Given the description of an element on the screen output the (x, y) to click on. 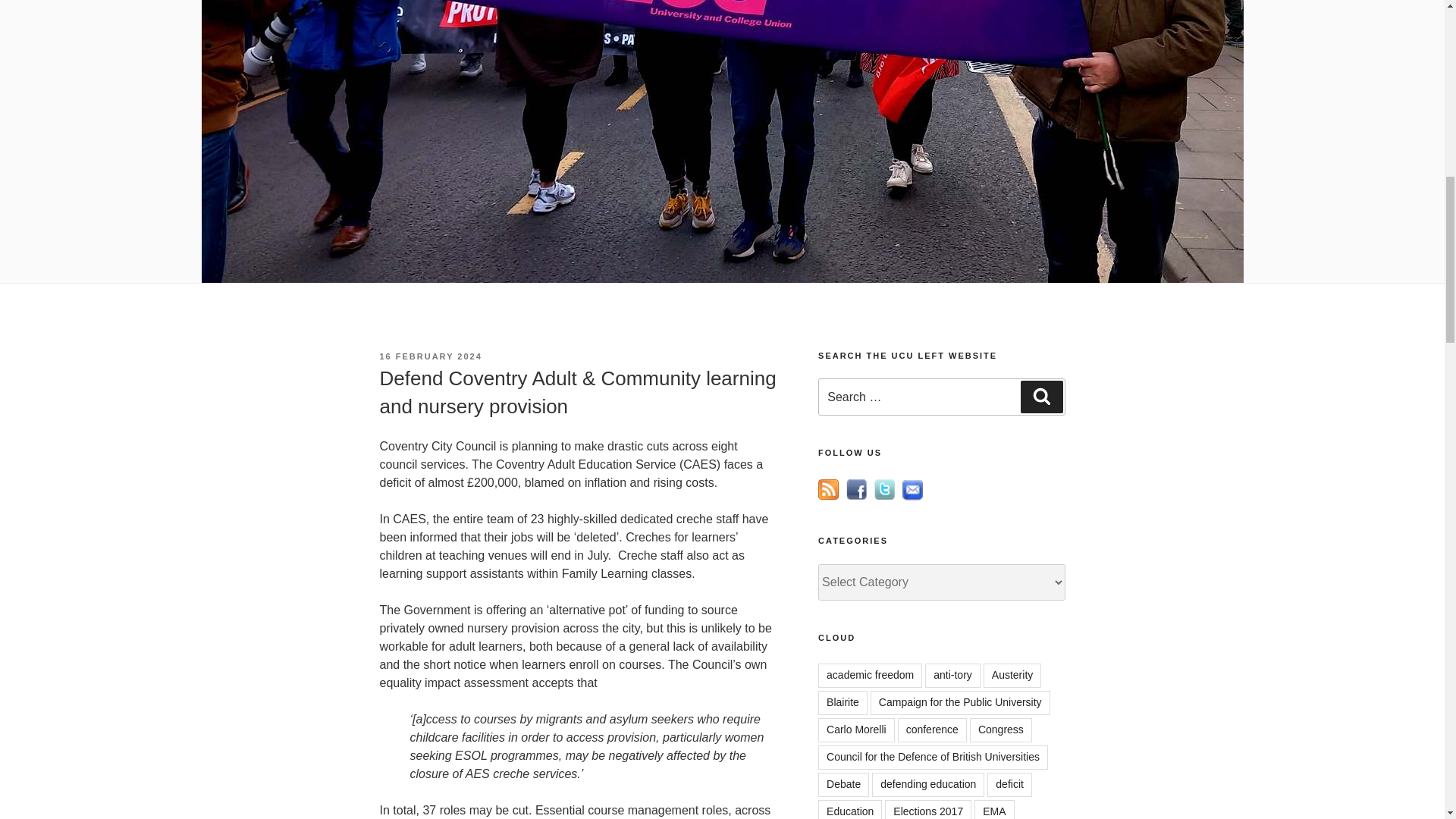
anti-tory (951, 675)
Austerity (1012, 675)
16 FEBRUARY 2024 (429, 356)
Search (1041, 396)
Carlo Morelli (856, 730)
Campaign for the Public University (959, 702)
Blairite (842, 702)
academic freedom (869, 675)
